Given the description of an element on the screen output the (x, y) to click on. 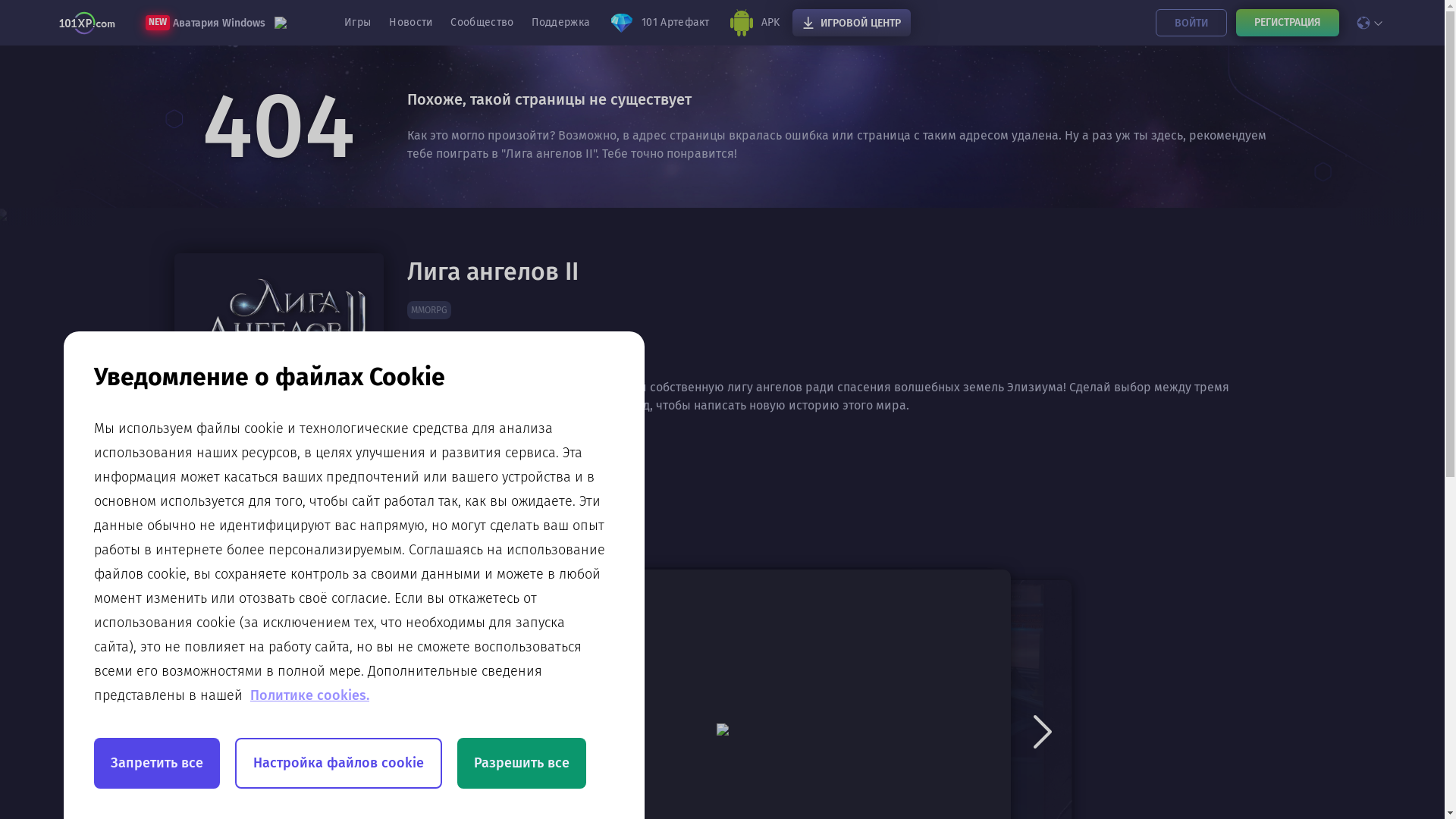
APK Element type: text (753, 22)
